Given the description of an element on the screen output the (x, y) to click on. 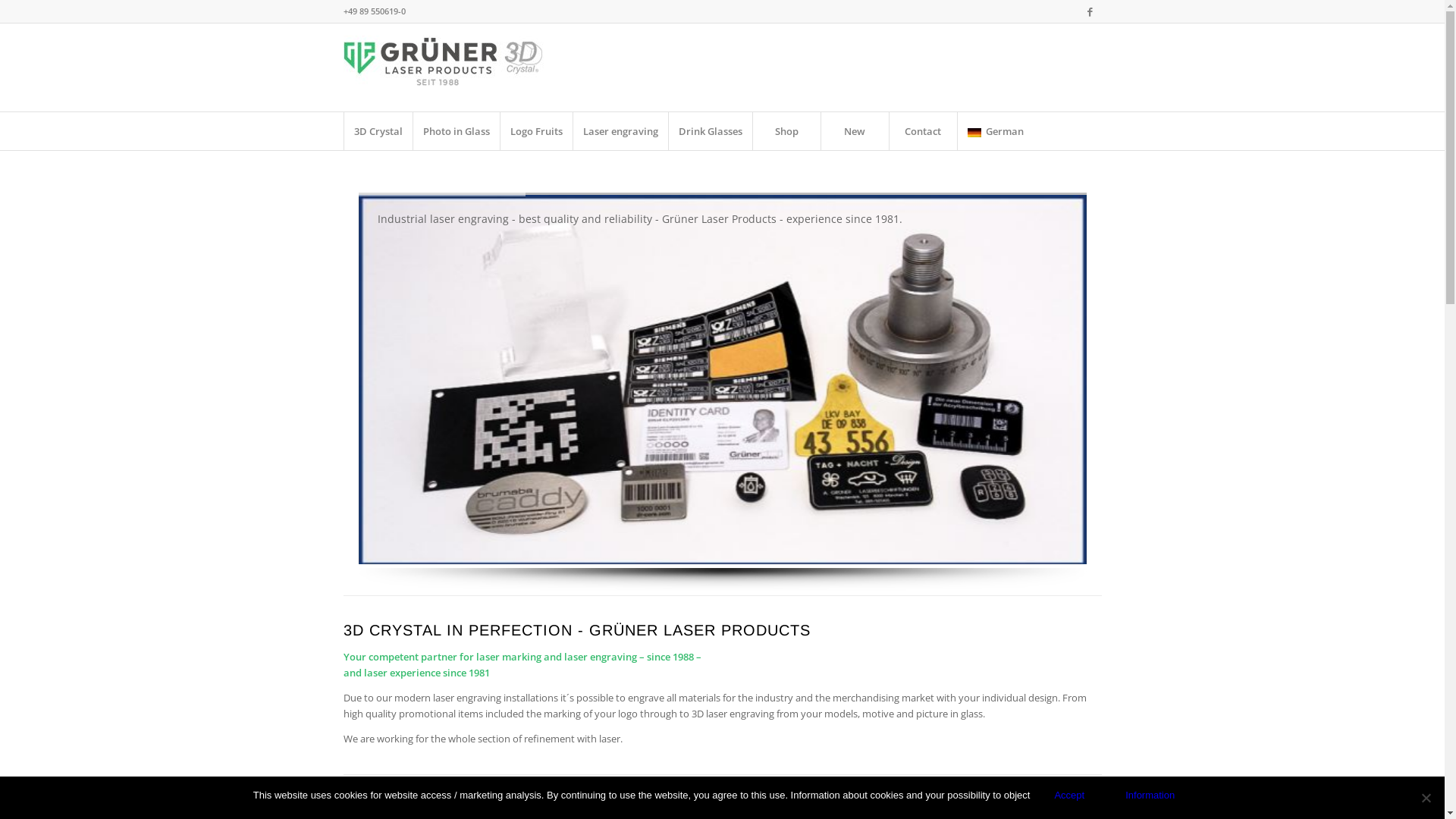
Information Element type: text (1149, 794)
Logo Fruits Element type: text (534, 131)
Drink Glasses Element type: text (709, 131)
Facebook Element type: hover (1089, 11)
Laser engraving Element type: text (619, 131)
Shop Element type: text (786, 131)
New Element type: text (854, 131)
Accept Element type: text (1069, 794)
Photo in Glass Element type: text (455, 131)
Contact Element type: text (922, 131)
3D Crystal Element type: text (376, 131)
German Element type: text (995, 131)
